Given the description of an element on the screen output the (x, y) to click on. 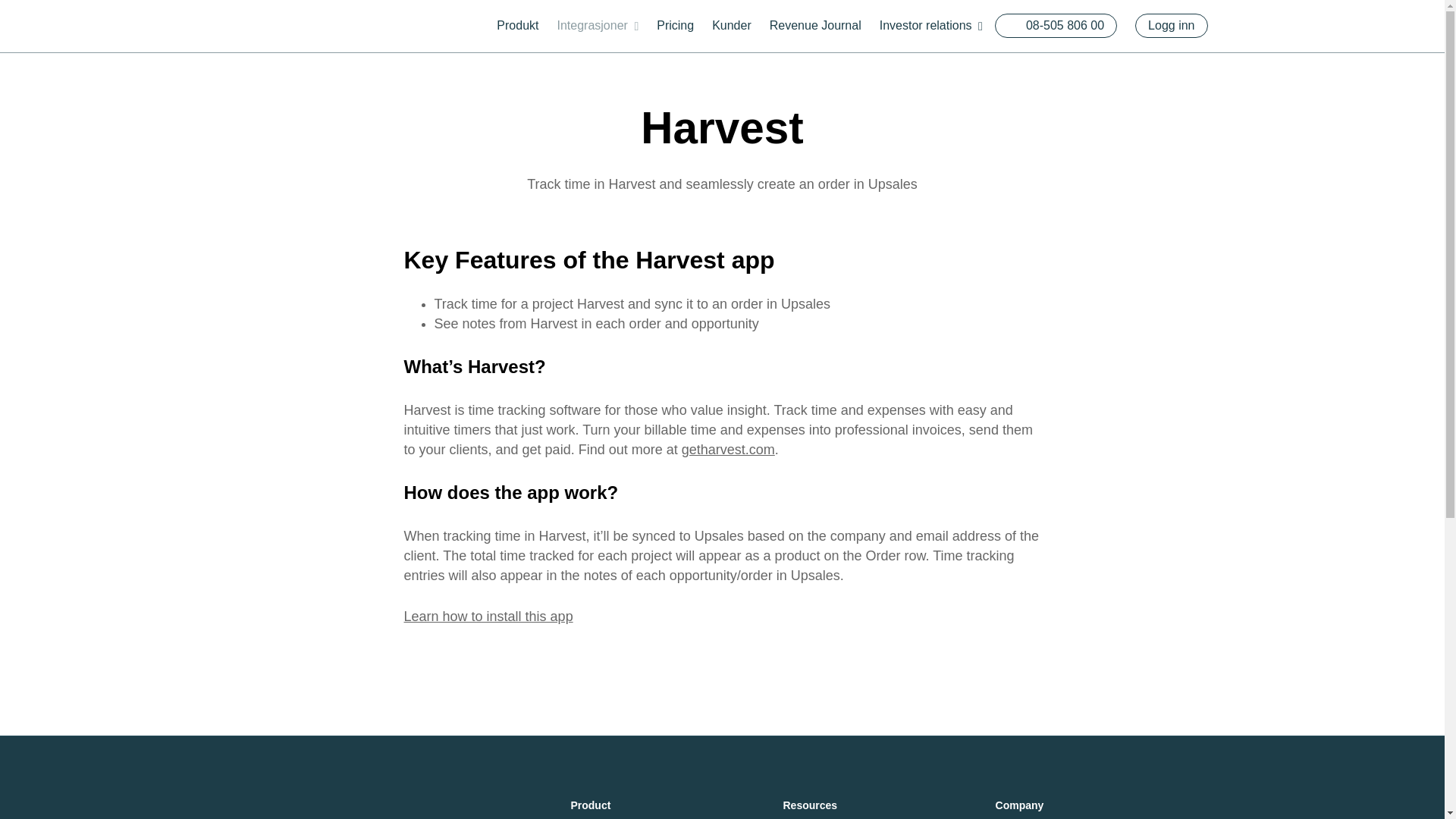
Pricing (675, 25)
Learn how to install this app (487, 616)
Investor relations (930, 25)
Kunder (731, 25)
Til startsiden (269, 24)
Integrasjoner (597, 25)
08-505 806 00 (1055, 25)
Revenue Journal (815, 25)
getharvest.com (727, 449)
Produkt (517, 25)
Logg inn (1171, 25)
Til startsiden (269, 27)
